Given the description of an element on the screen output the (x, y) to click on. 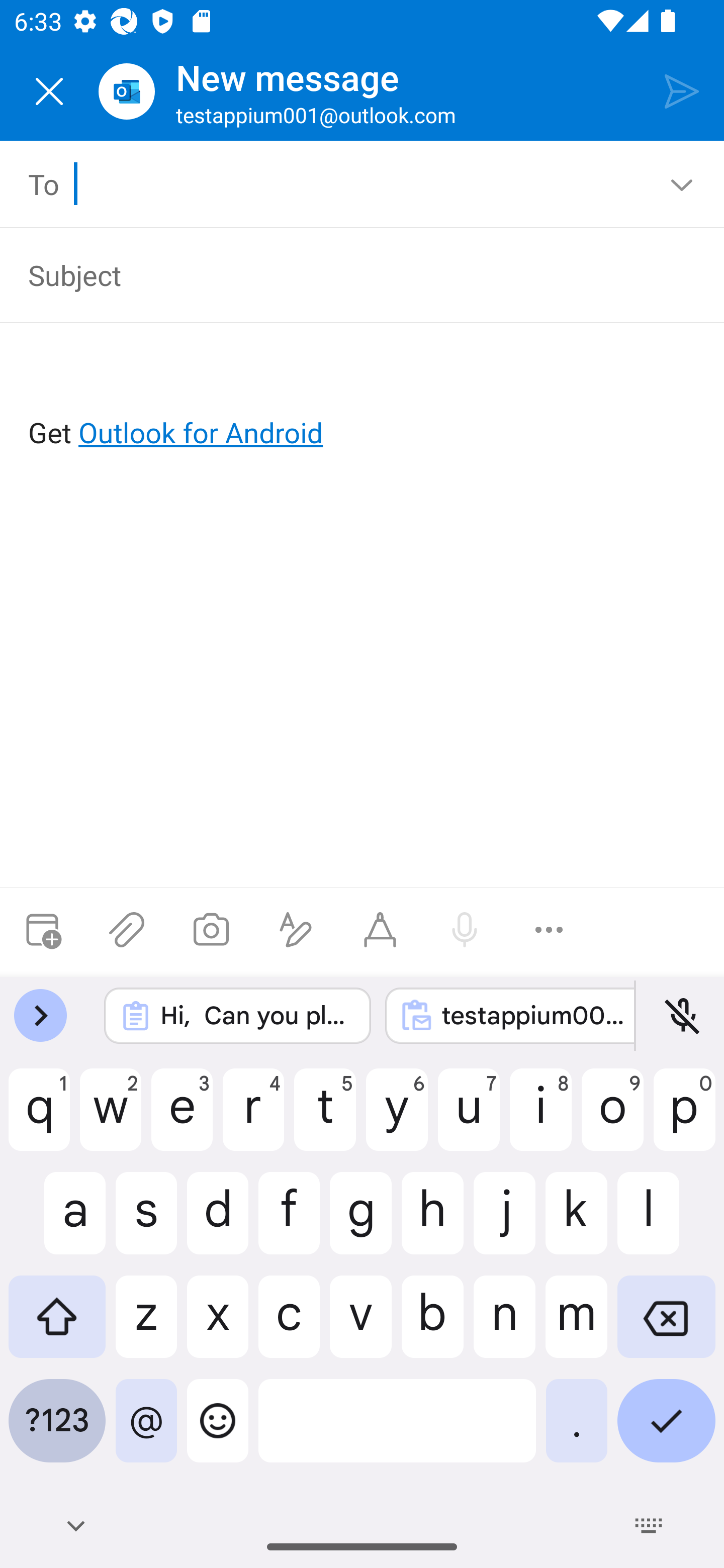
Close (49, 91)
Send (681, 90)
Subject (347, 274)


Get Outlook for Android (363, 400)
Attach meeting (42, 929)
Attach files (126, 929)
Take a photo (210, 929)
Show formatting options (295, 929)
Start Ink compose (380, 929)
More options (548, 929)
